Given the description of an element on the screen output the (x, y) to click on. 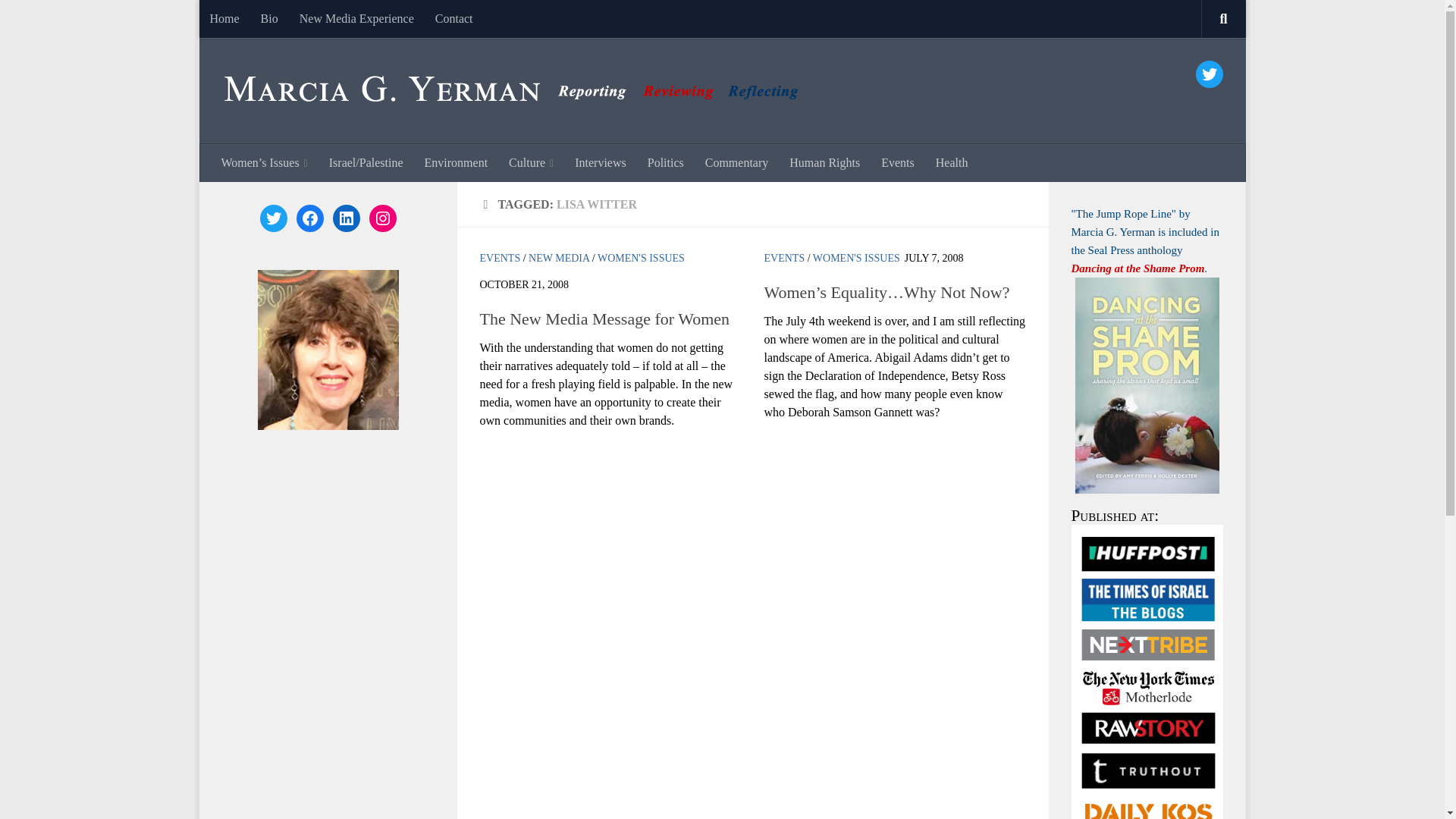
Home (223, 18)
Human Rights (824, 162)
Commentary (736, 162)
Culture (530, 162)
Contact (454, 18)
Politics (665, 162)
Health (951, 162)
NEW MEDIA (558, 257)
Skip to content (258, 20)
Events (897, 162)
